Given the description of an element on the screen output the (x, y) to click on. 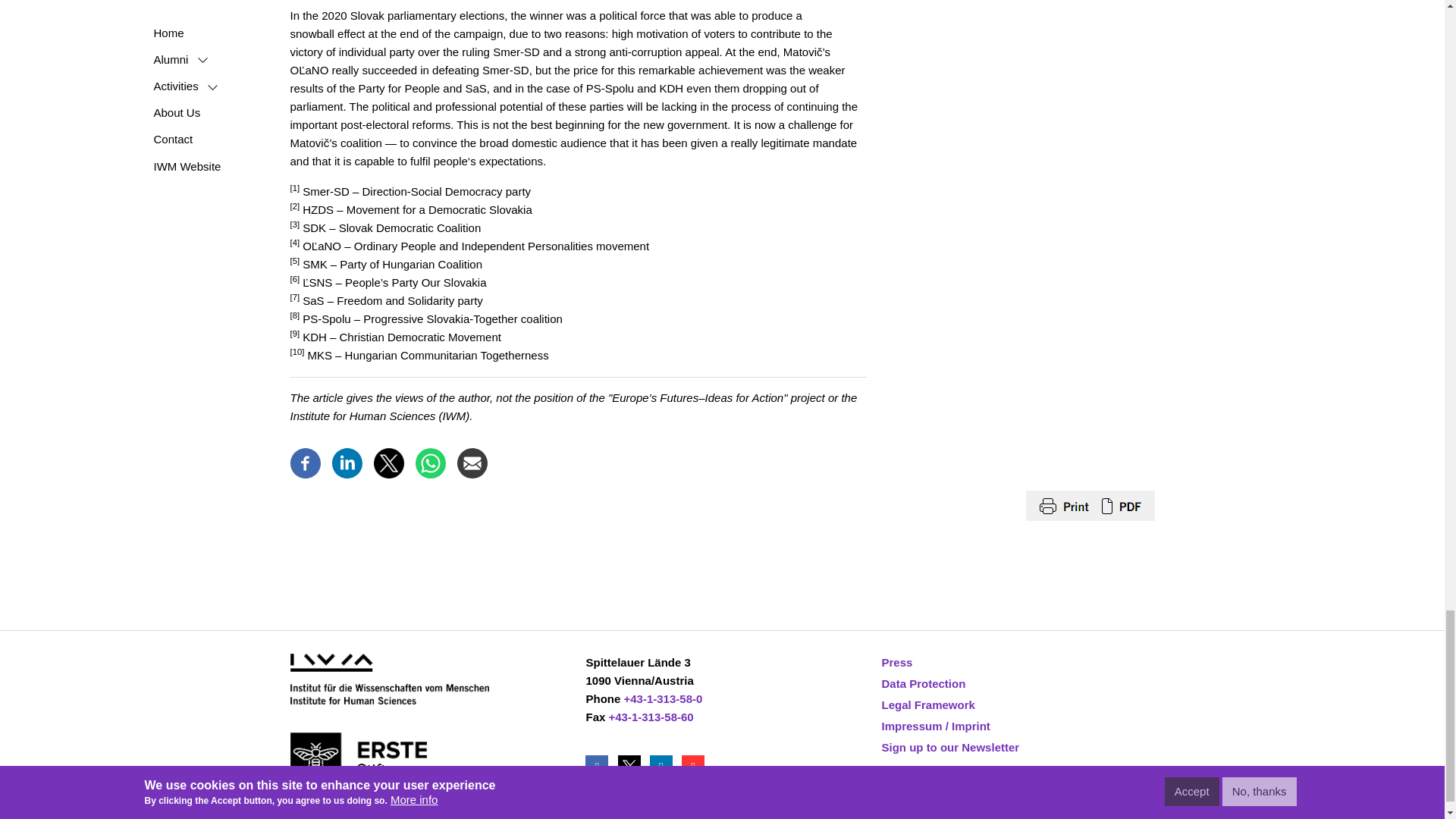
Linkedin (346, 461)
Email (471, 461)
YouTube (694, 766)
Twitter (387, 461)
Facebook (304, 461)
Facebook (598, 766)
LinkedIn (662, 766)
Twitter (630, 766)
